Given the description of an element on the screen output the (x, y) to click on. 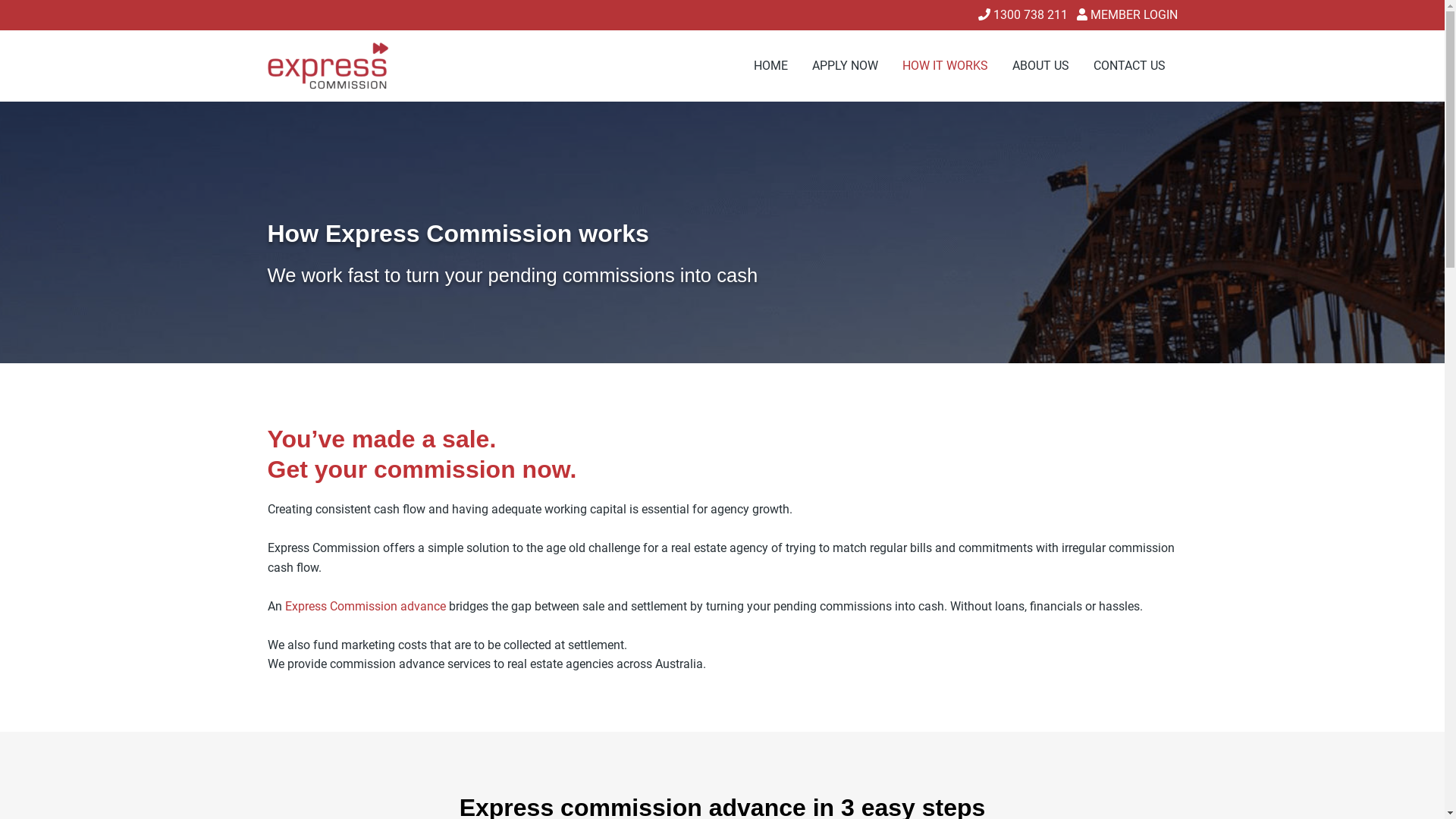
CONTACT US Element type: text (1129, 65)
HOW IT WORKS Element type: text (945, 65)
MEMBER LOGIN Element type: text (1126, 14)
APPLY NOW Element type: text (844, 65)
1300 738 211 Element type: text (1022, 14)
HOME Element type: text (770, 65)
ABOUT US Element type: text (1039, 65)
Express Commission advance Element type: text (365, 606)
